Given the description of an element on the screen output the (x, y) to click on. 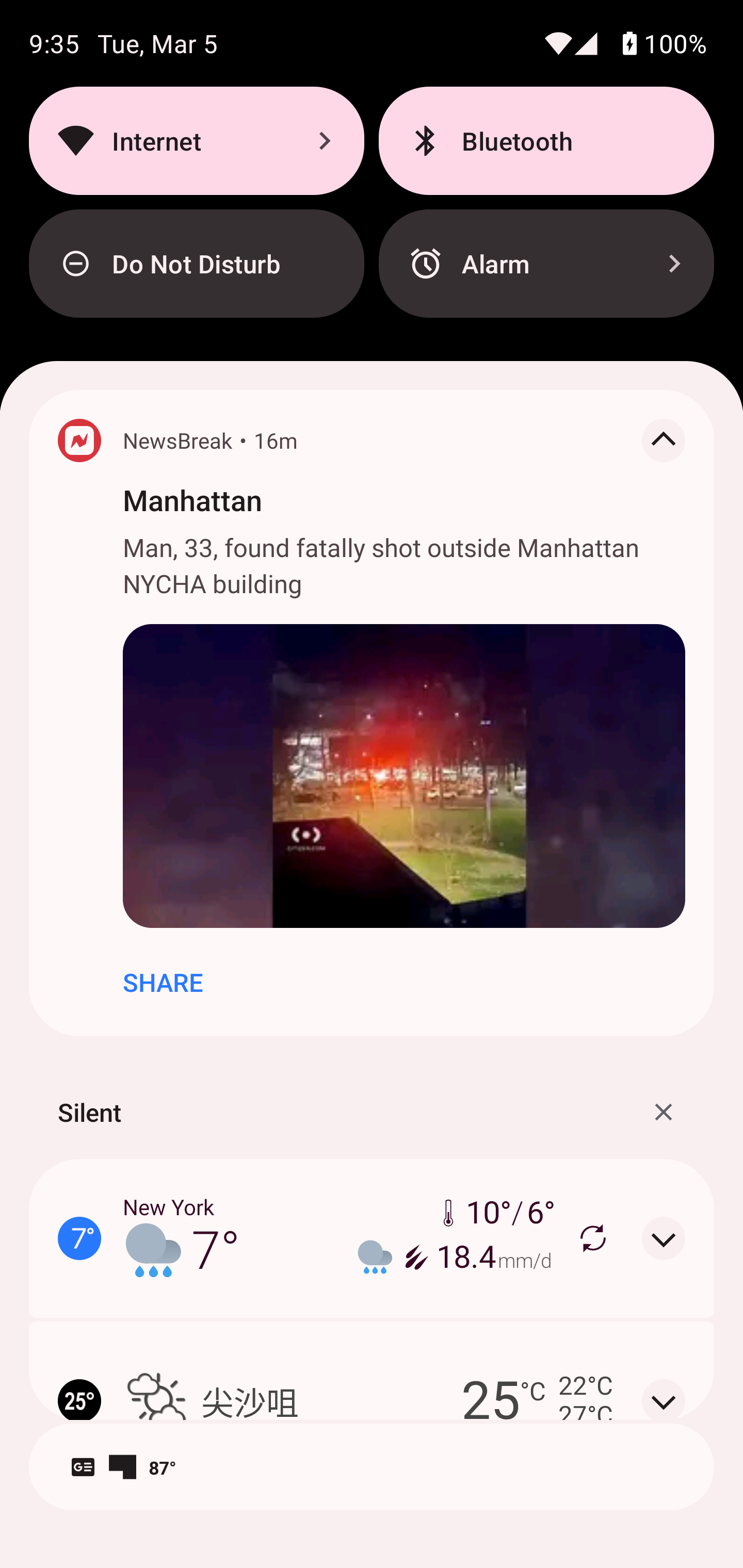
On Internet,AndroidWifi Internet (196, 140)
On Bluetooth. Bluetooth (546, 140)
Off Do Not Disturb. Do Not Disturb (196, 264)
Alarm, No alarm set Alarm (546, 264)
Collapse (663, 440)
SHARE Share (163, 982)
Silent (89, 1112)
Clear all silent notifications (663, 1112)
New York 7° 10° / 6° 18.4 mm/d Expand (371, 1237)
Expand (663, 1237)
